Given the description of an element on the screen output the (x, y) to click on. 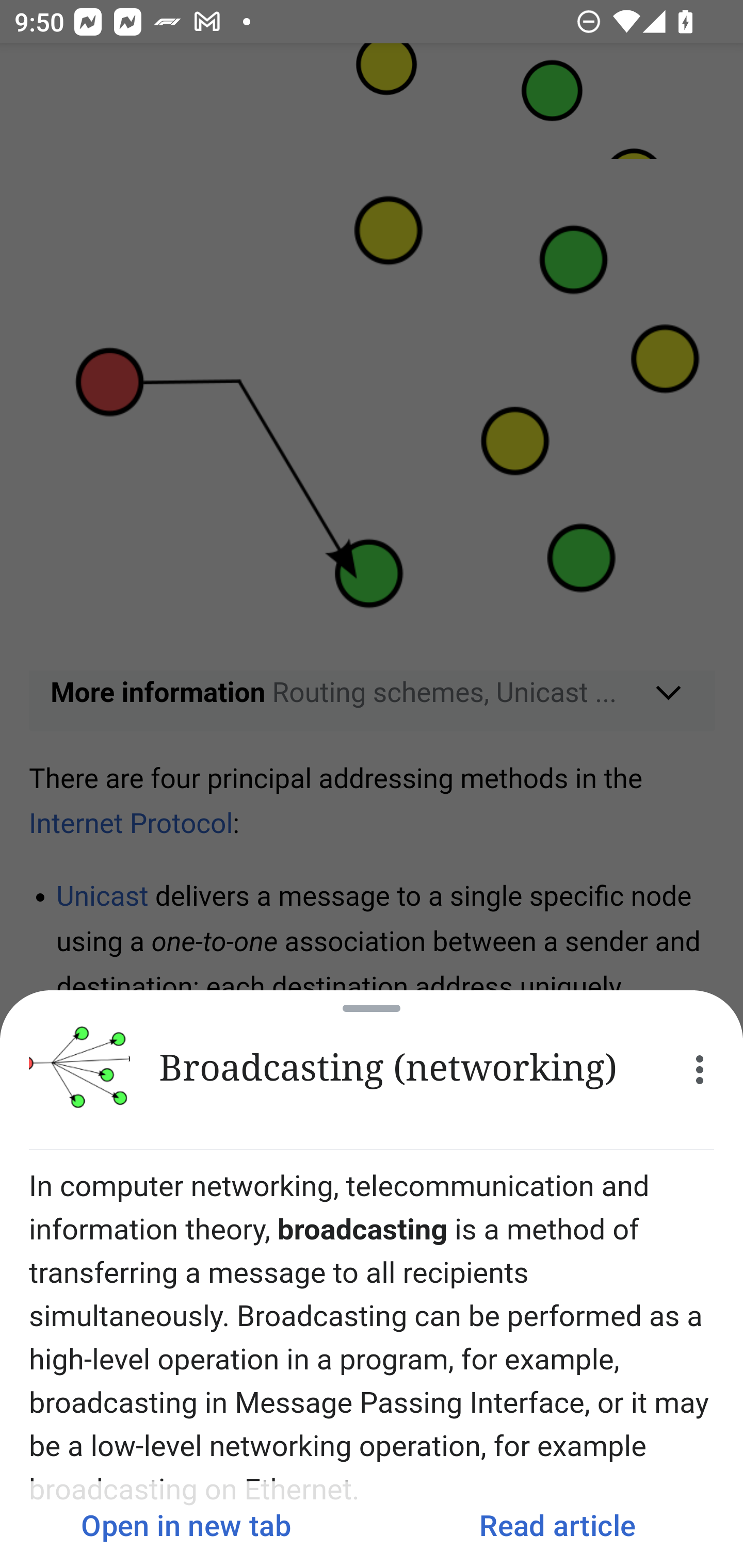
Broadcasting (networking) More options (371, 1069)
More options (699, 1070)
Open in new tab (185, 1524)
Read article (557, 1524)
